Given the description of an element on the screen output the (x, y) to click on. 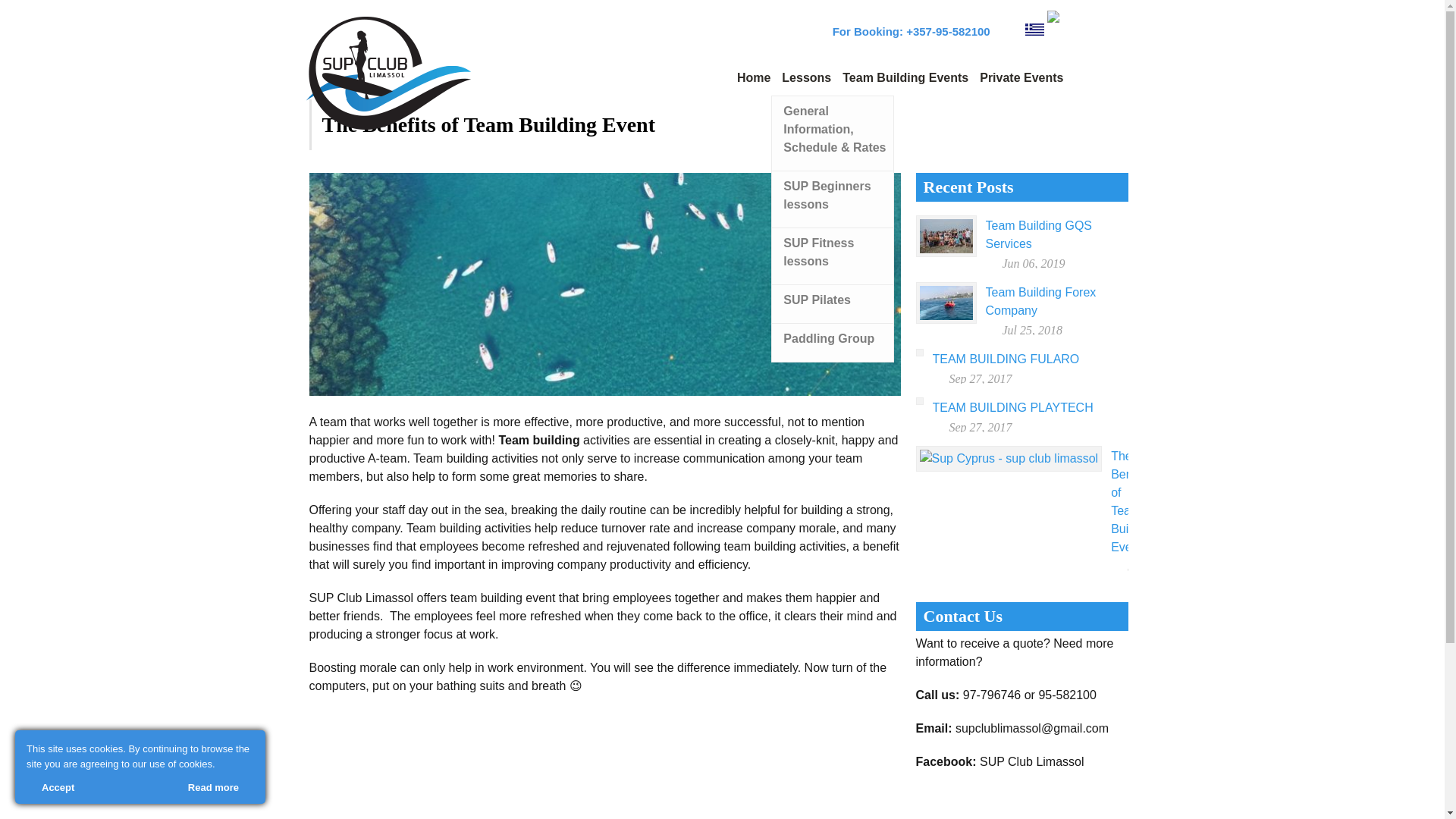
TEAM BUILDING PLAYTECH (1013, 407)
Team Building GQS Services (1039, 234)
Home (748, 81)
TEAM BUILDING FULARO (1006, 358)
SUP Beginners lessons (832, 199)
sup club limassol (1034, 31)
Private Events (1016, 81)
Team Building Events (900, 81)
SUP Fitness lessons (832, 256)
The Benefits of Team Building Event (1132, 501)
Team Building Forex Company (1040, 300)
Lessons (801, 81)
SUP Pilates (832, 304)
Paddling Group (832, 343)
